Given the description of an element on the screen output the (x, y) to click on. 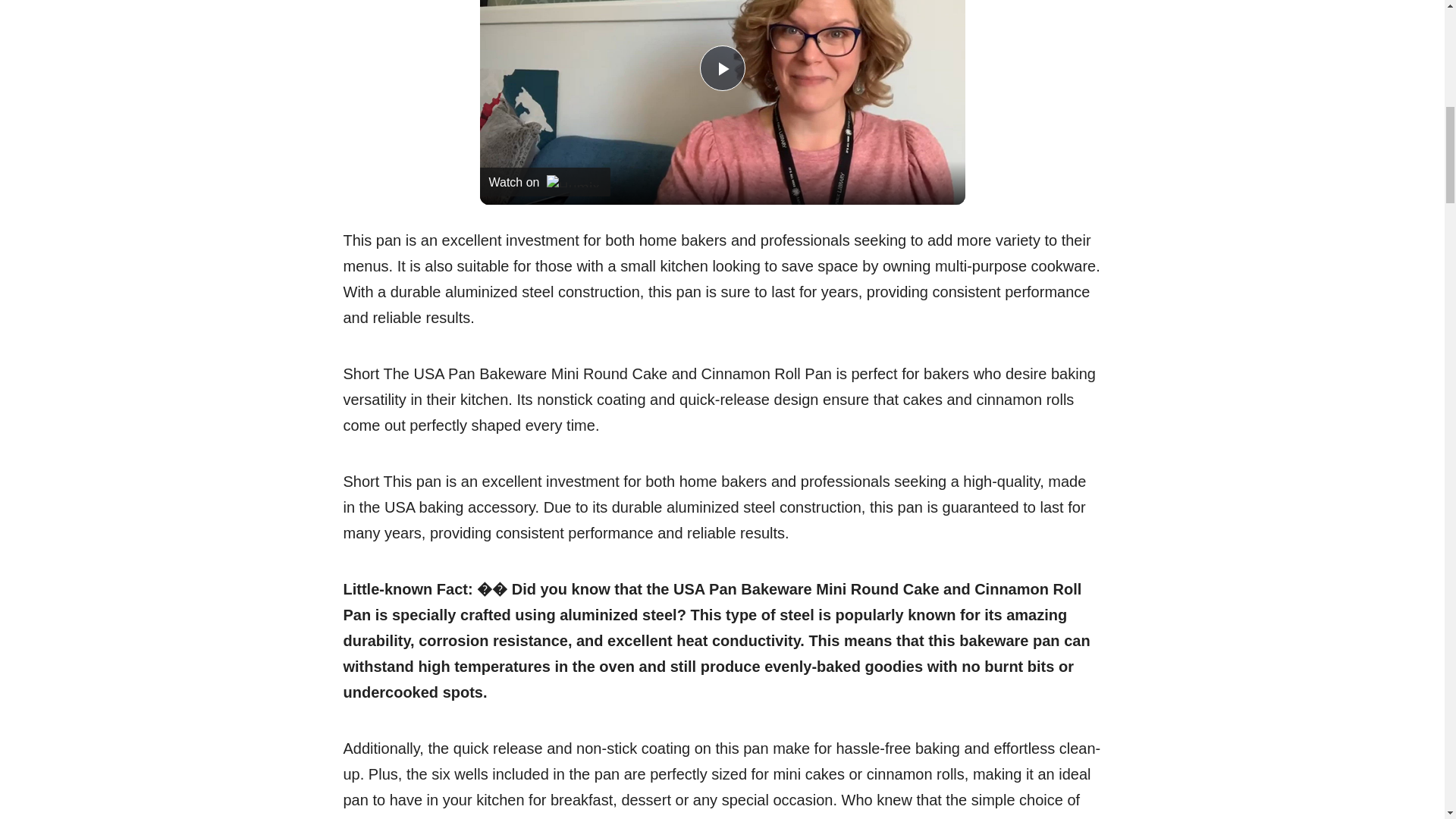
Watch on (544, 181)
Play Video (721, 67)
Play Video (721, 67)
